Given the description of an element on the screen output the (x, y) to click on. 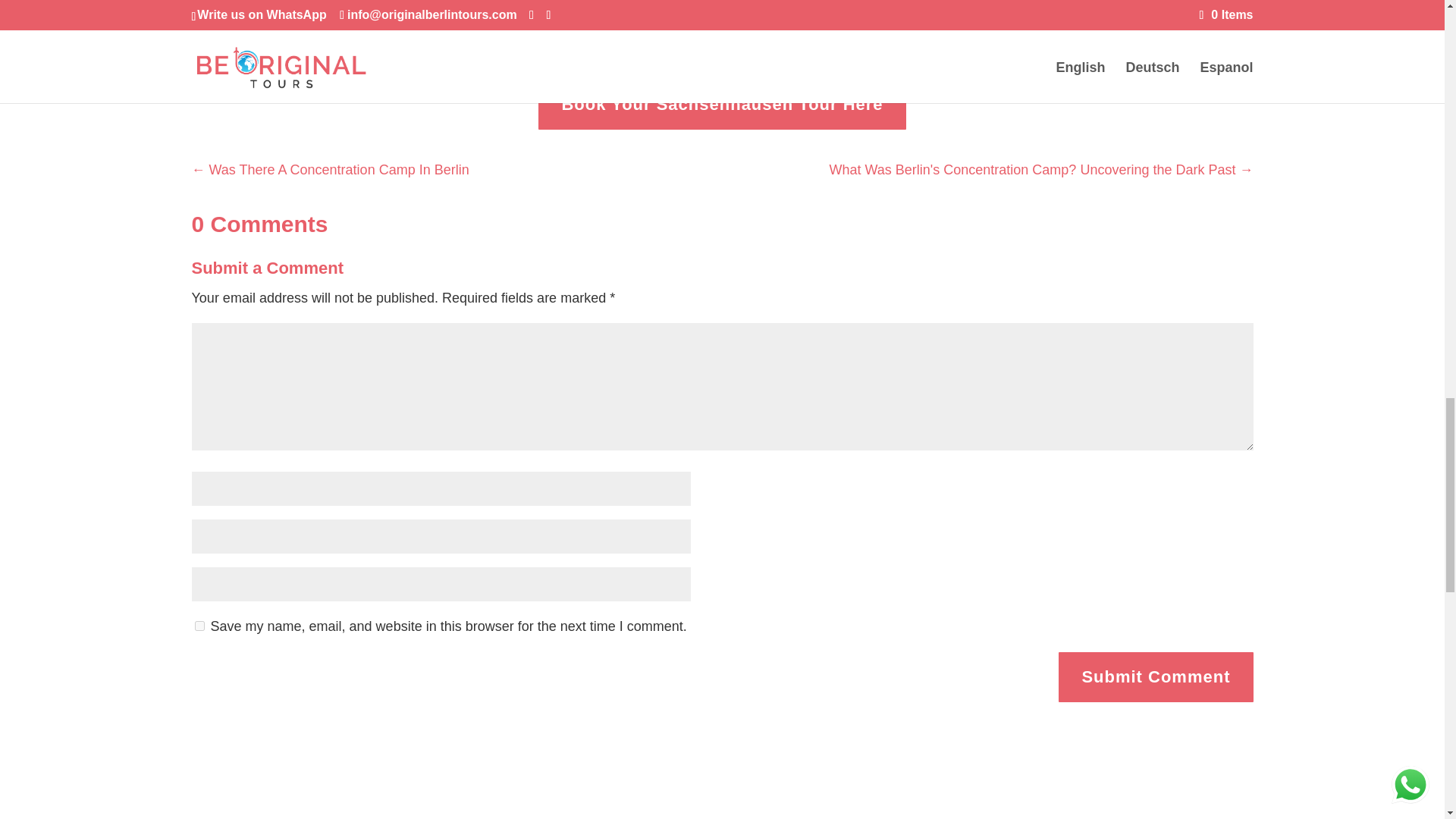
yes (198, 625)
Sachsenhausen Concentration Camp Memorial Tour (919, 37)
Book Your Sachsenhausen Tour Here (721, 103)
Submit Comment (1155, 676)
